Given the description of an element on the screen output the (x, y) to click on. 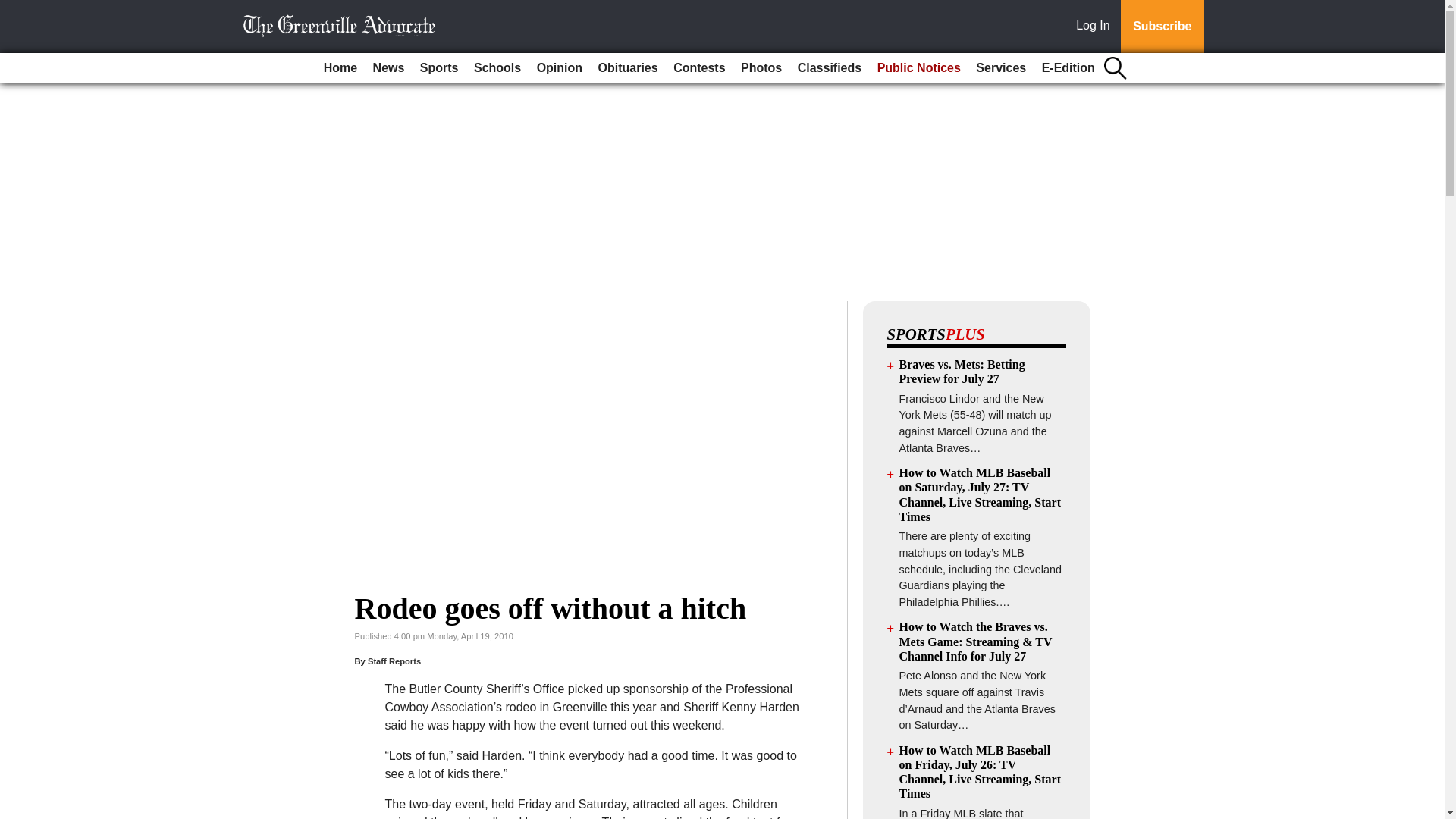
Go (13, 9)
Obituaries (627, 68)
Opinion (559, 68)
Schools (497, 68)
Braves vs. Mets: Betting Preview for July 27 (962, 370)
Classifieds (829, 68)
E-Edition (1067, 68)
News (388, 68)
Contests (698, 68)
Log In (1095, 26)
Services (1000, 68)
Subscribe (1162, 26)
Sports (438, 68)
Staff Reports (394, 660)
